Given the description of an element on the screen output the (x, y) to click on. 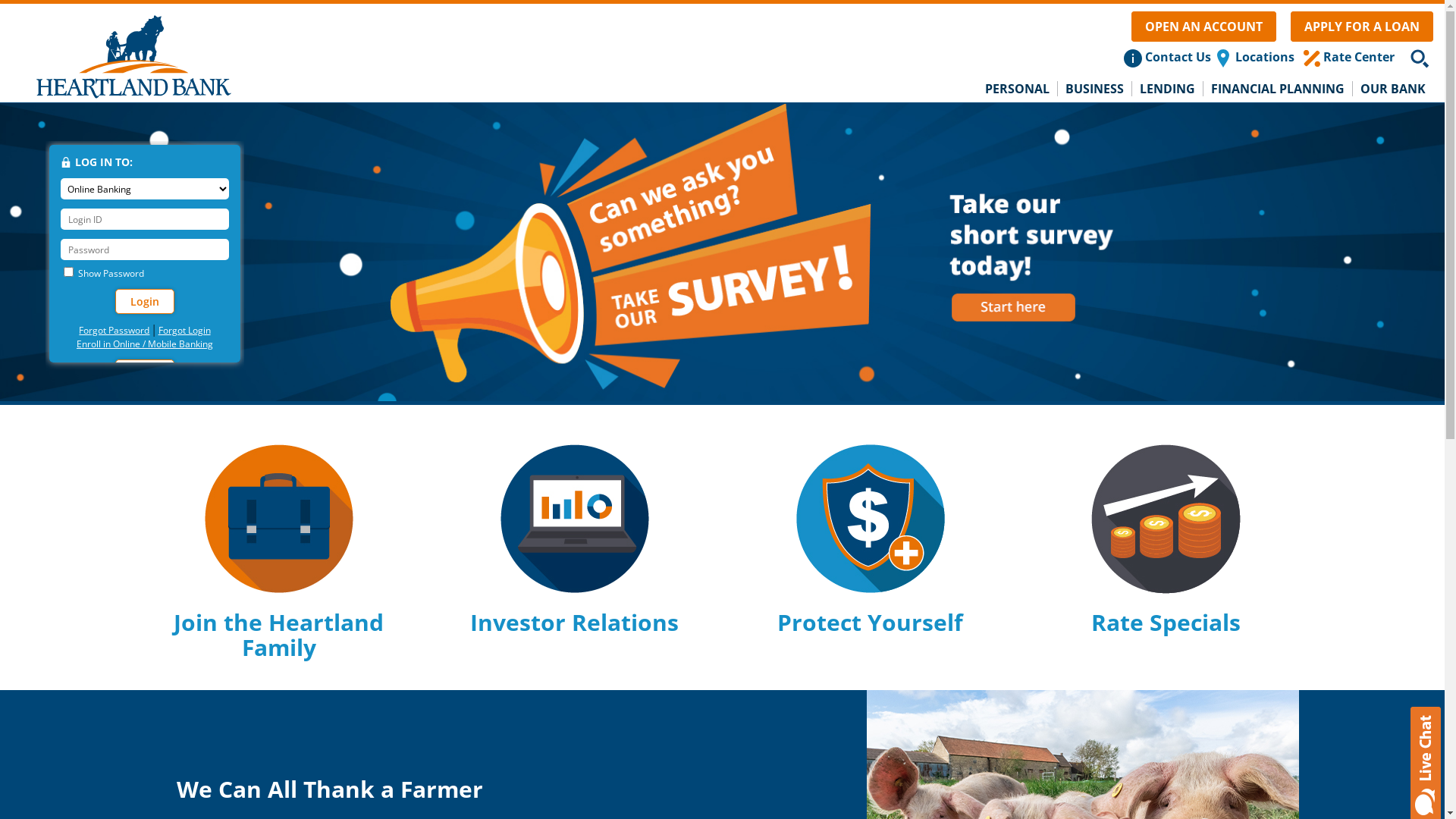
Locations Element type: text (1264, 56)
Investor Relations Element type: text (574, 621)
Protect Yourself Element type: text (870, 621)
APPLY FOR A LOAN Element type: text (1361, 26)
Join the Heartland Family Element type: text (278, 634)
Contact Us Element type: text (1178, 56)
PERSONAL Element type: text (1017, 88)
OUR BANK Element type: text (1392, 88)
OPEN AN ACCOUNT Element type: text (1203, 26)
FINANCIAL PLANNING Element type: text (1277, 88)
Rate Center Element type: text (1358, 56)
We Can All Thank a Farmer Element type: text (328, 788)
Can we ask you something? Take our short survey today! Element type: hover (722, 252)
Heartland Bank Element type: hover (133, 55)
BUSINESS Element type: text (1094, 88)
LENDING Element type: text (1167, 88)
Rate Specials Element type: text (1165, 621)
